Given the description of an element on the screen output the (x, y) to click on. 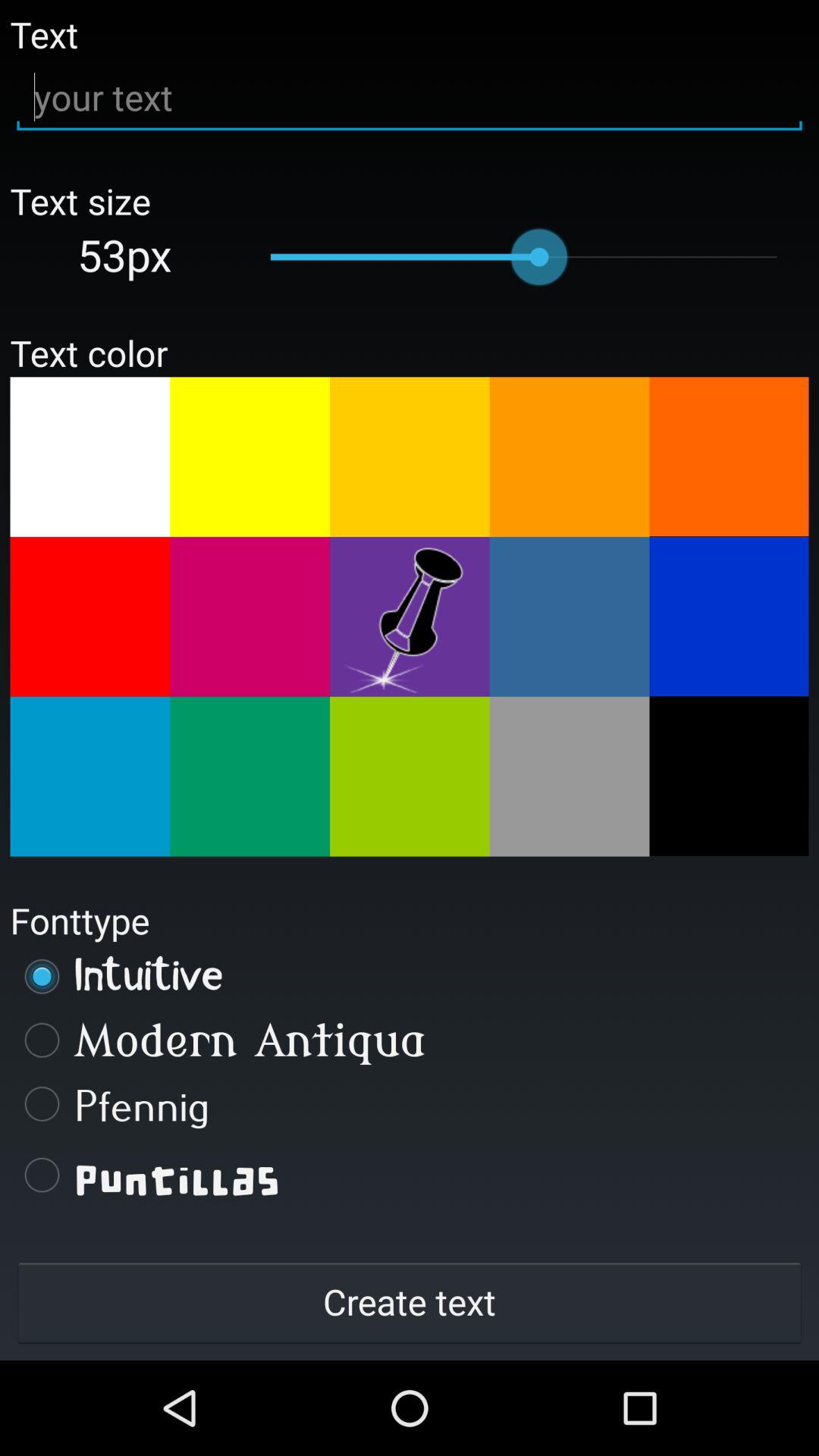
change text color to dark yellow (409, 456)
